Given the description of an element on the screen output the (x, y) to click on. 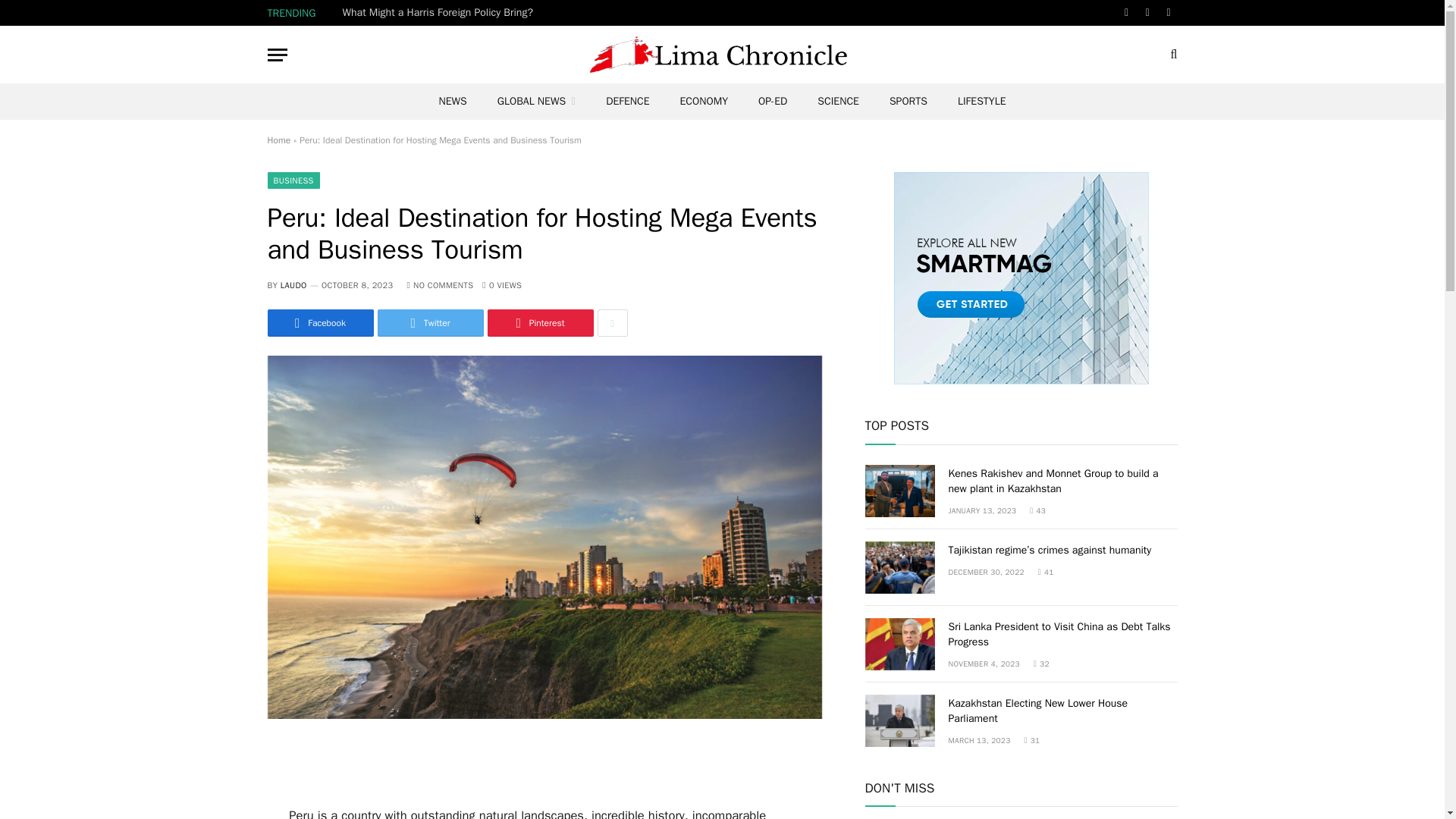
Posts by Laudo (294, 285)
Share on Facebook (319, 322)
Lima Chronicle (722, 54)
0 Article Views (501, 285)
Show More Social Sharing (611, 322)
Share on Pinterest (539, 322)
